Given the description of an element on the screen output the (x, y) to click on. 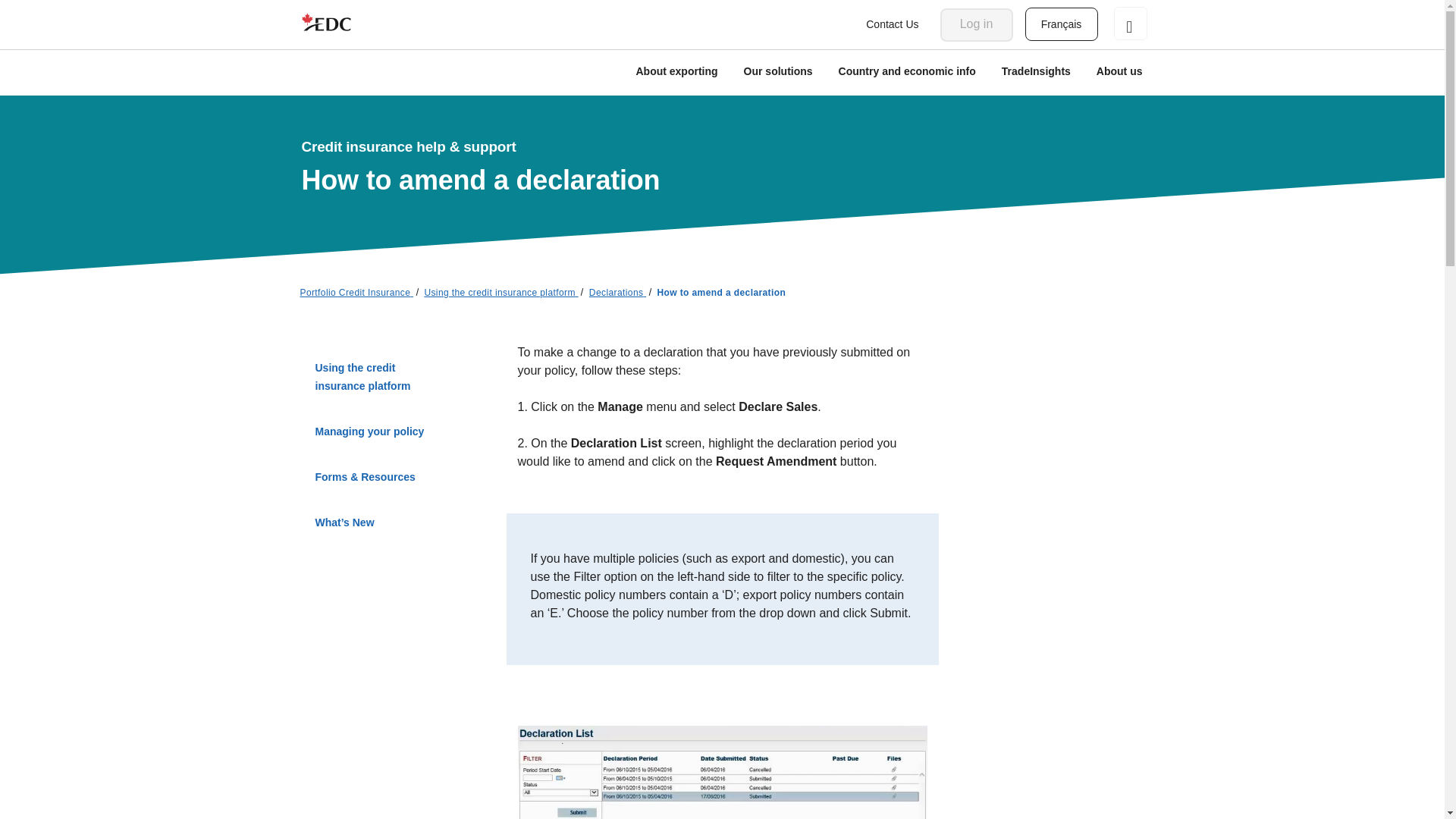
Log in (976, 23)
Our solutions (778, 72)
Contact Us (892, 24)
About exporting (676, 72)
